Given the description of an element on the screen output the (x, y) to click on. 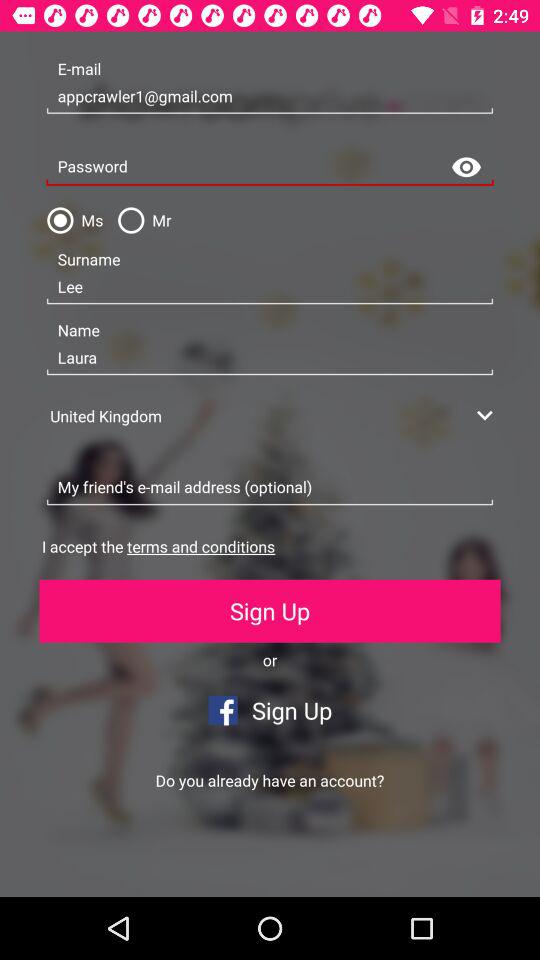
insert friends email option (270, 488)
